Given the description of an element on the screen output the (x, y) to click on. 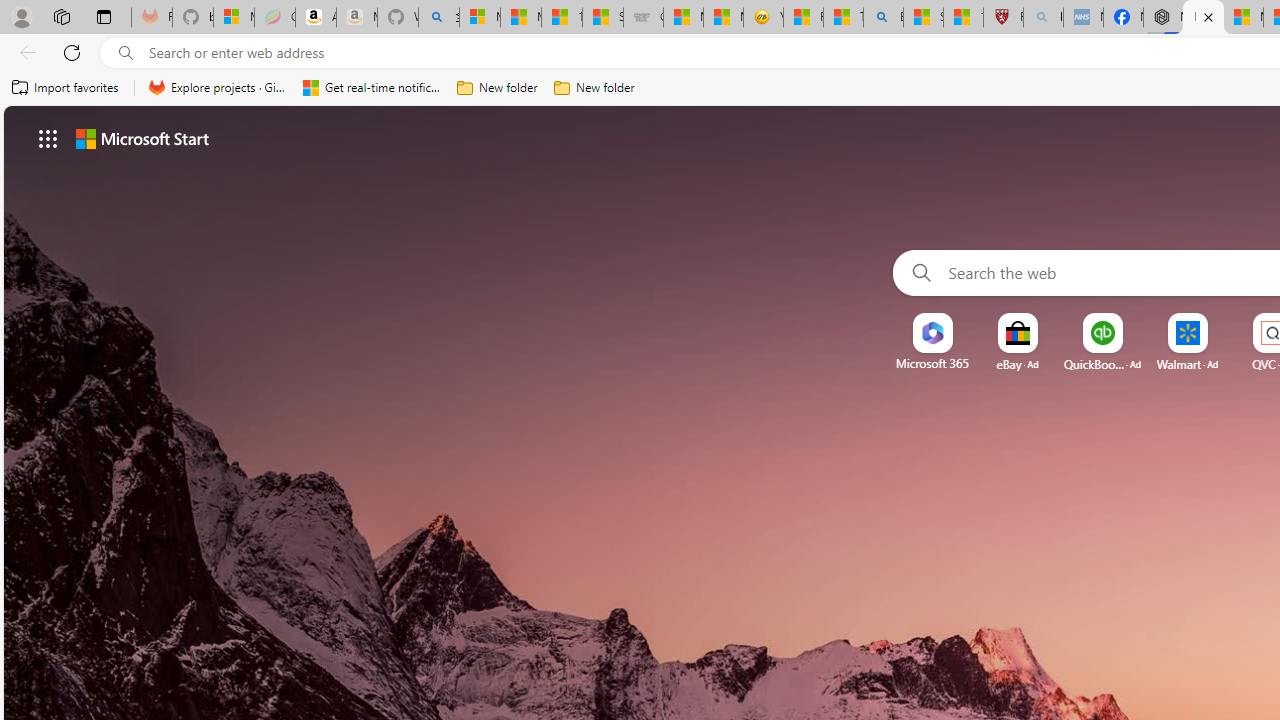
App launcher (47, 138)
